Given the description of an element on the screen output the (x, y) to click on. 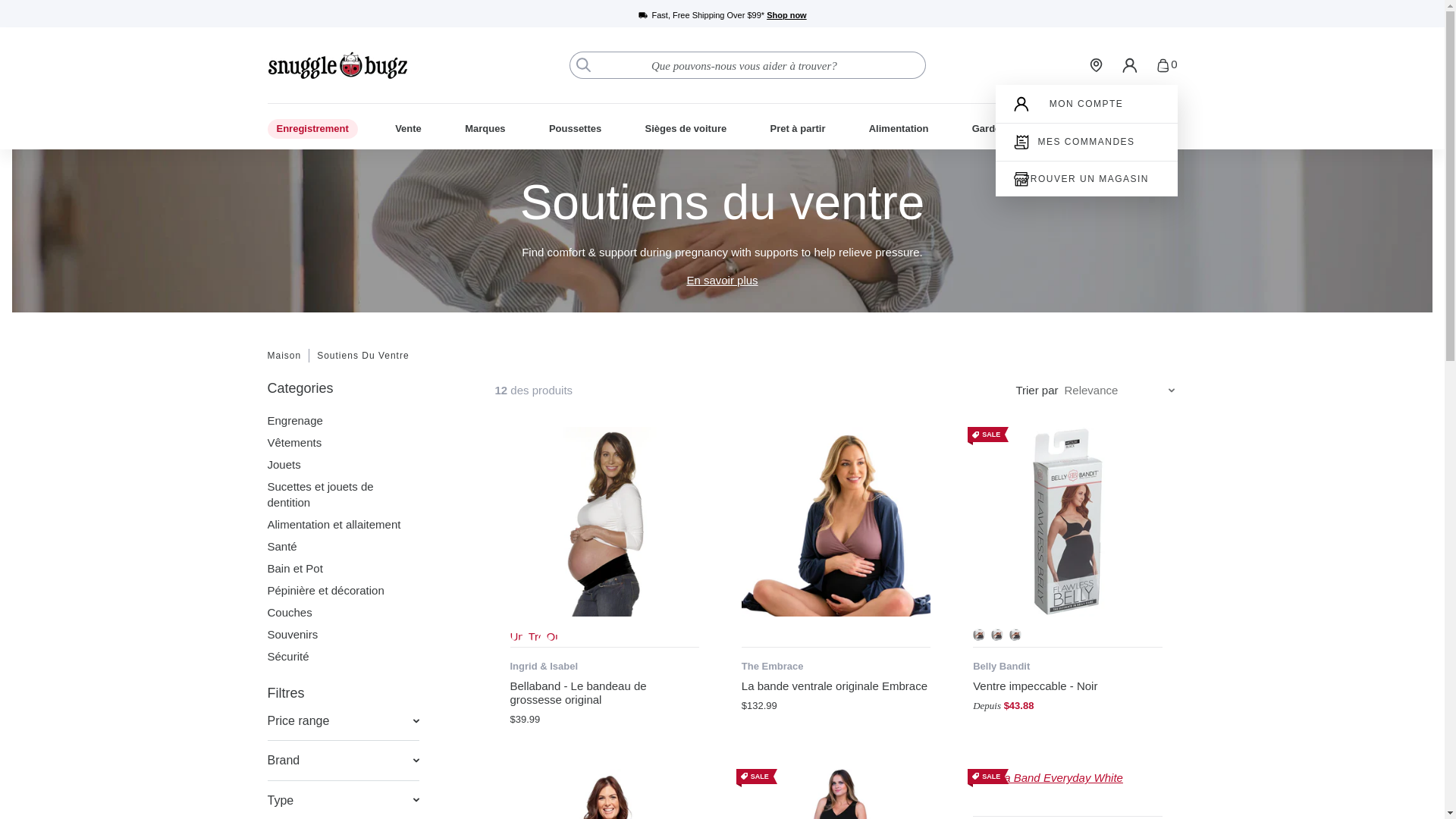
MES COMMANDES (1085, 141)
Shop now (786, 14)
MON COMPTE (1086, 103)
Vente (408, 127)
Enregistrement (311, 127)
0 (1166, 64)
TROUVER UN MAGASIN (1085, 178)
